Given the description of an element on the screen output the (x, y) to click on. 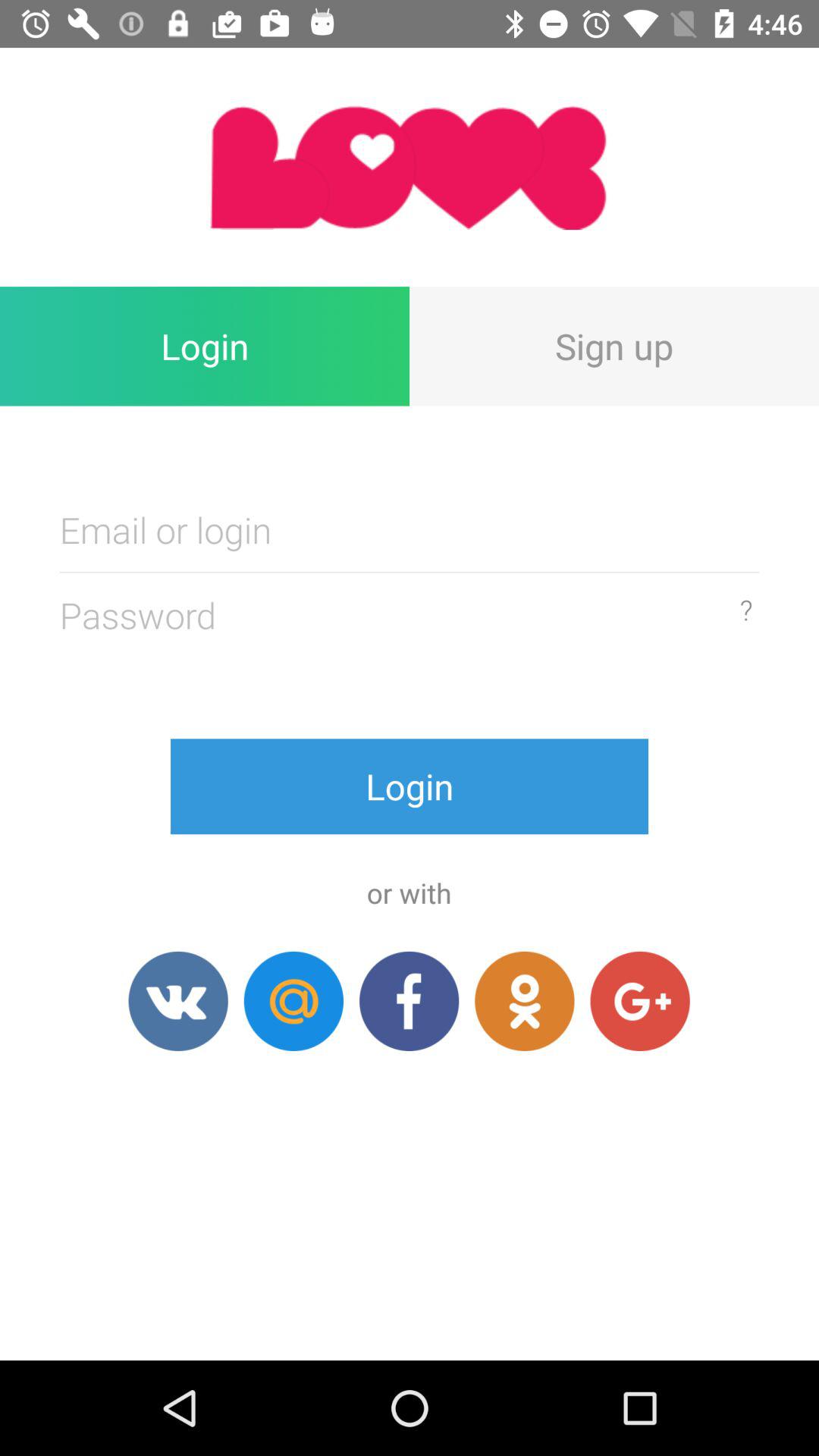
turn on icon at the top right corner (614, 346)
